Given the description of an element on the screen output the (x, y) to click on. 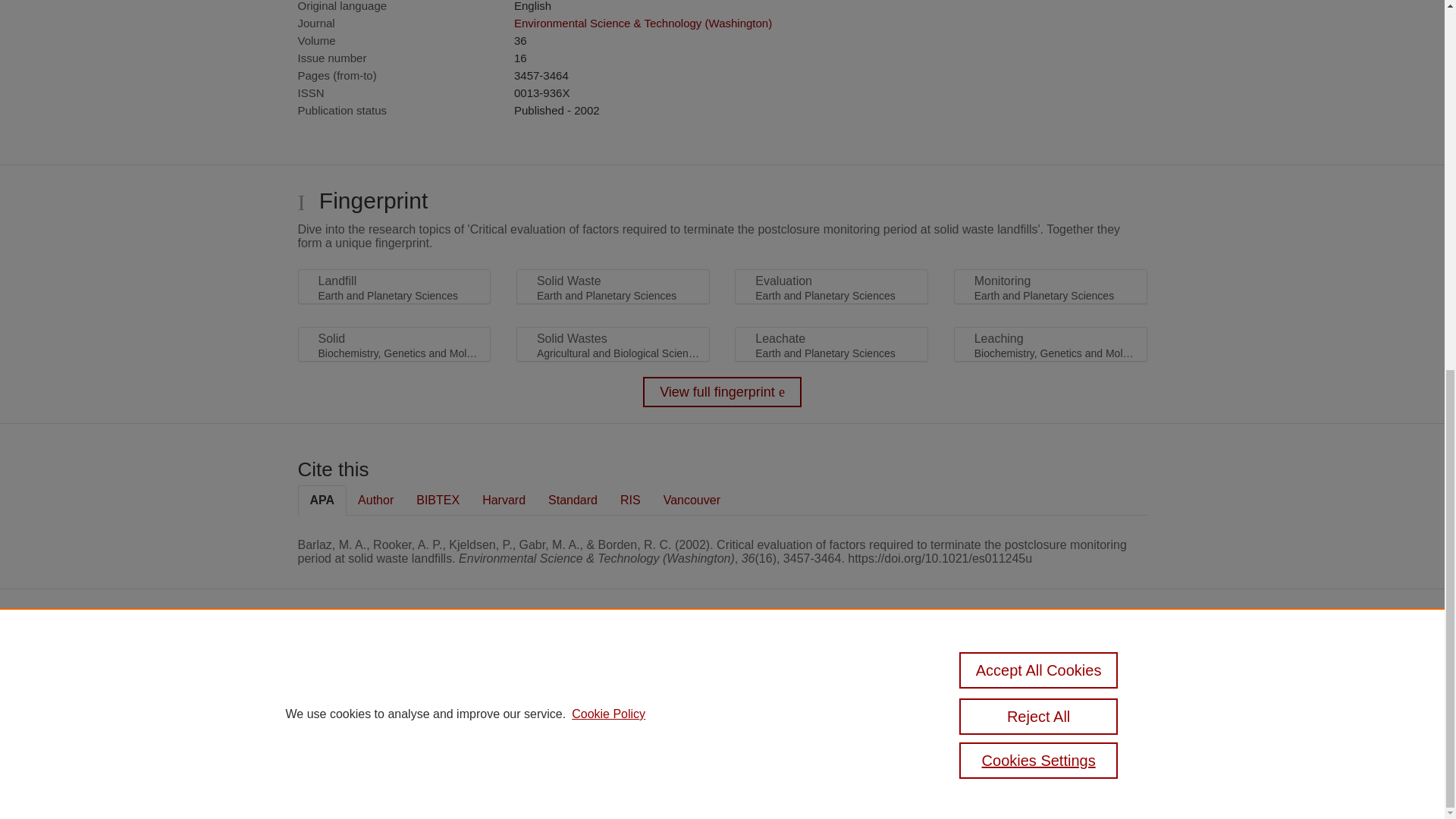
Elsevier B.V. (665, 685)
View full fingerprint (722, 391)
Pure (521, 664)
use of cookies (503, 739)
Cookies Settings (494, 760)
Scopus (553, 664)
Log in to DTU Orbit (499, 781)
